Given the description of an element on the screen output the (x, y) to click on. 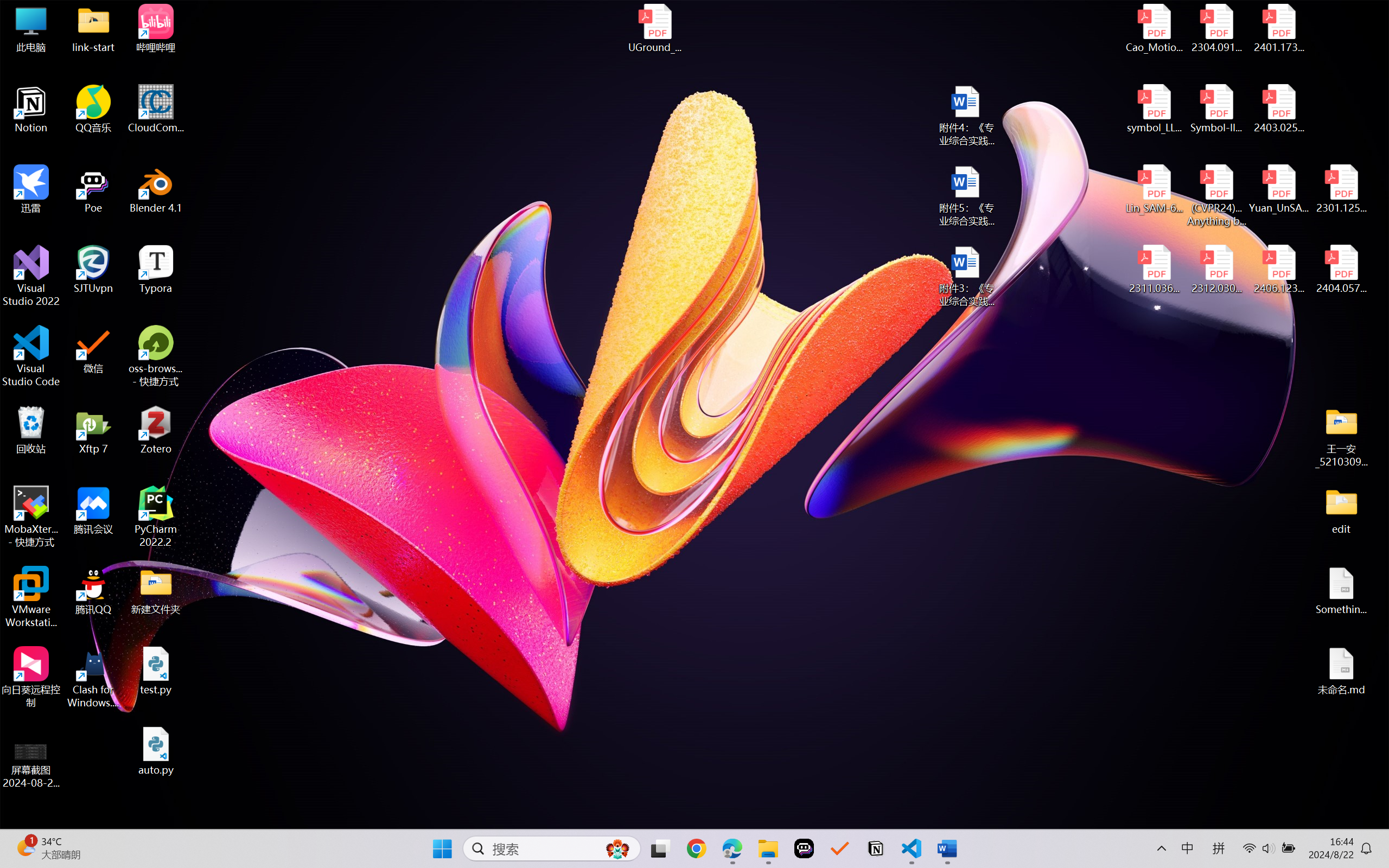
Typora (156, 269)
2301.12597v3.pdf (1340, 189)
2312.03032v2.pdf (1216, 269)
SJTUvpn (93, 269)
VMware Workstation Pro (31, 597)
